Given the description of an element on the screen output the (x, y) to click on. 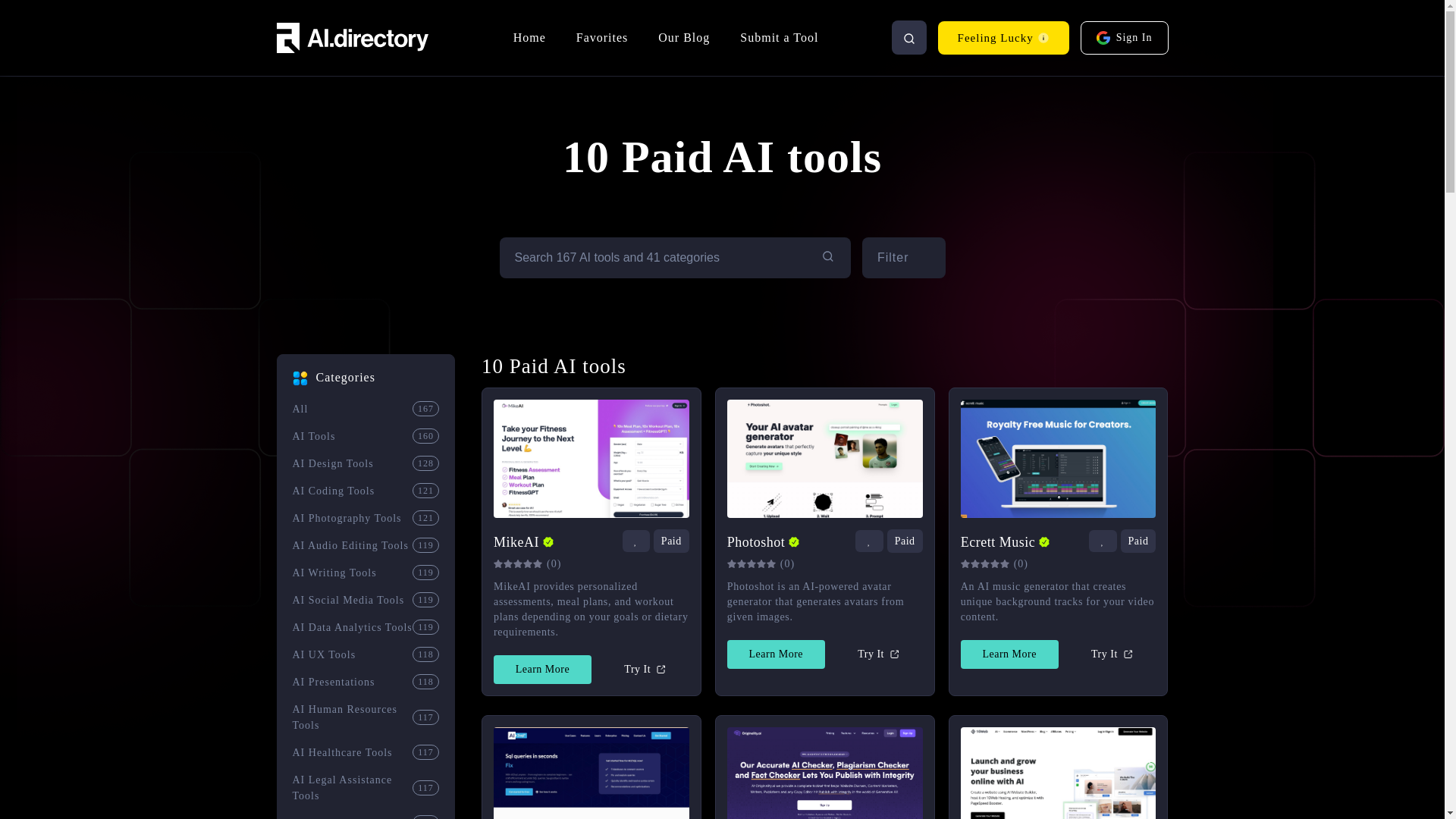
AI Photography Tools (352, 518)
AI Legal Assistance Tools (352, 787)
AI Writing Tools (352, 572)
Feeling Lucky (1002, 38)
Submit a Tool (778, 37)
AI Human Resources Tools (352, 717)
AI Audio Editing Tools (352, 545)
AI UX Tools (352, 654)
Our Blog (684, 37)
AI Presentations (352, 682)
AI Data Analytics Tools (352, 627)
Favorites (602, 37)
AI Healthcare Tools (352, 752)
